Given the description of an element on the screen output the (x, y) to click on. 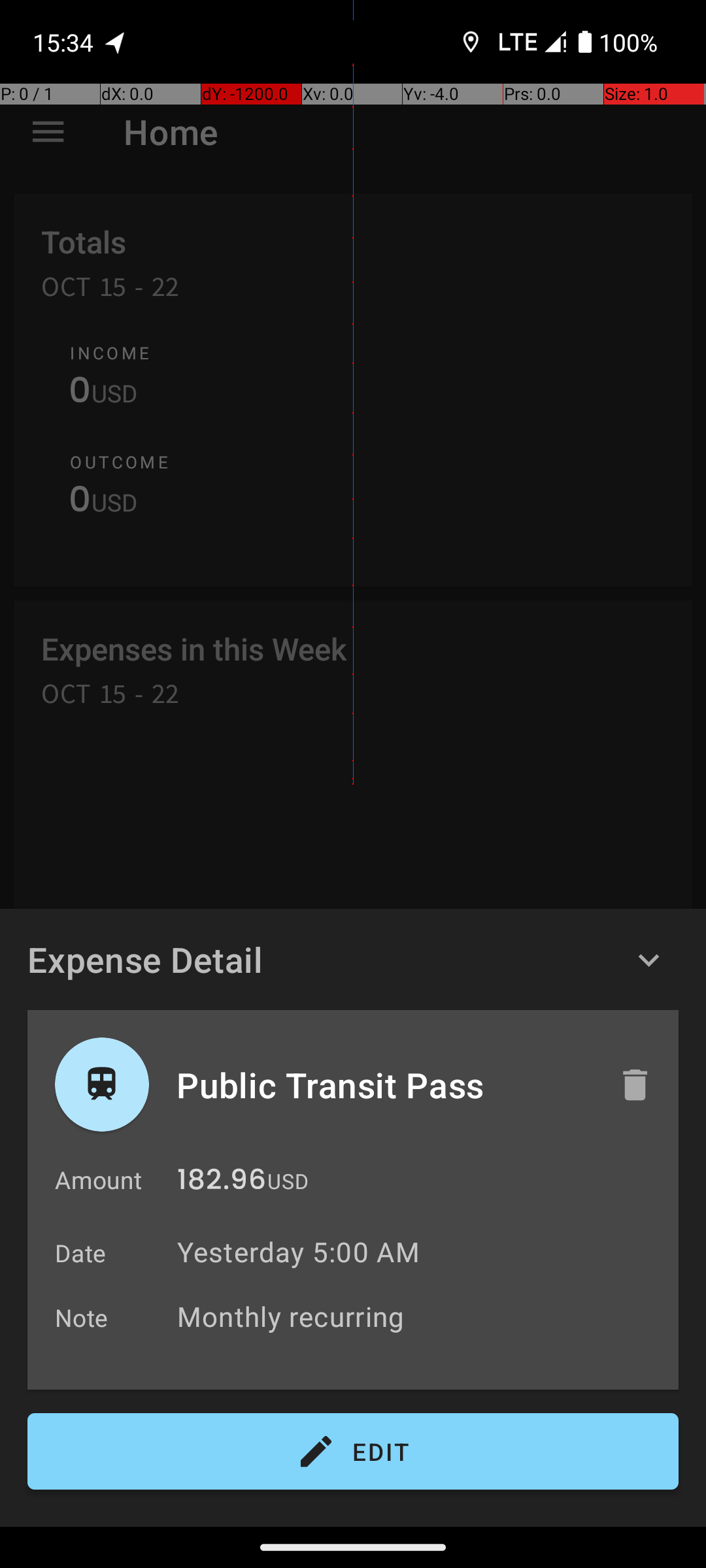
Public Transit Pass Element type: android.widget.TextView (383, 1084)
182.96 Element type: android.widget.TextView (221, 1182)
Yesterday 5:00 AM Element type: android.widget.TextView (298, 1251)
